Given the description of an element on the screen output the (x, y) to click on. 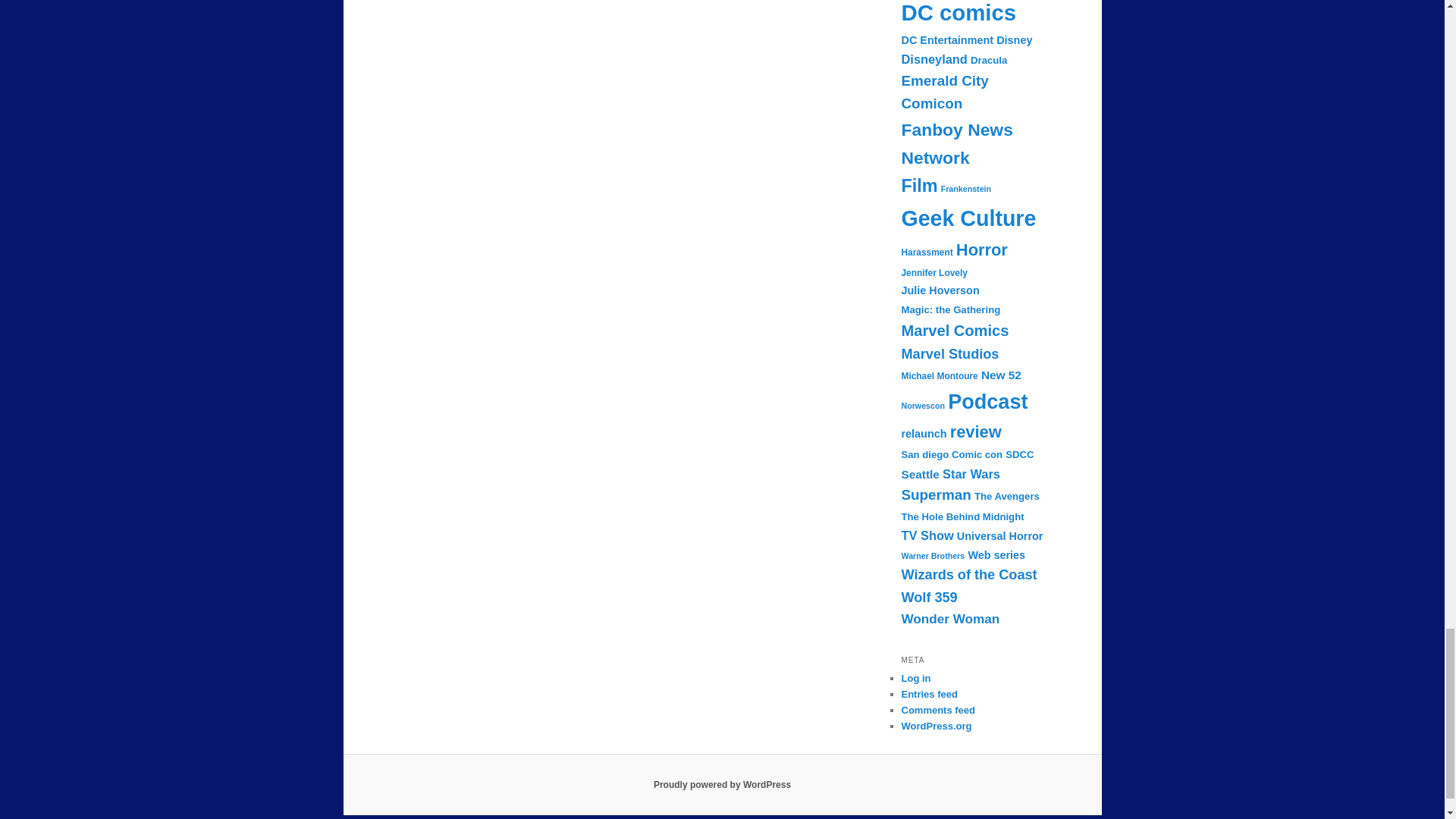
Semantic Personal Publishing Platform (721, 784)
